Given the description of an element on the screen output the (x, y) to click on. 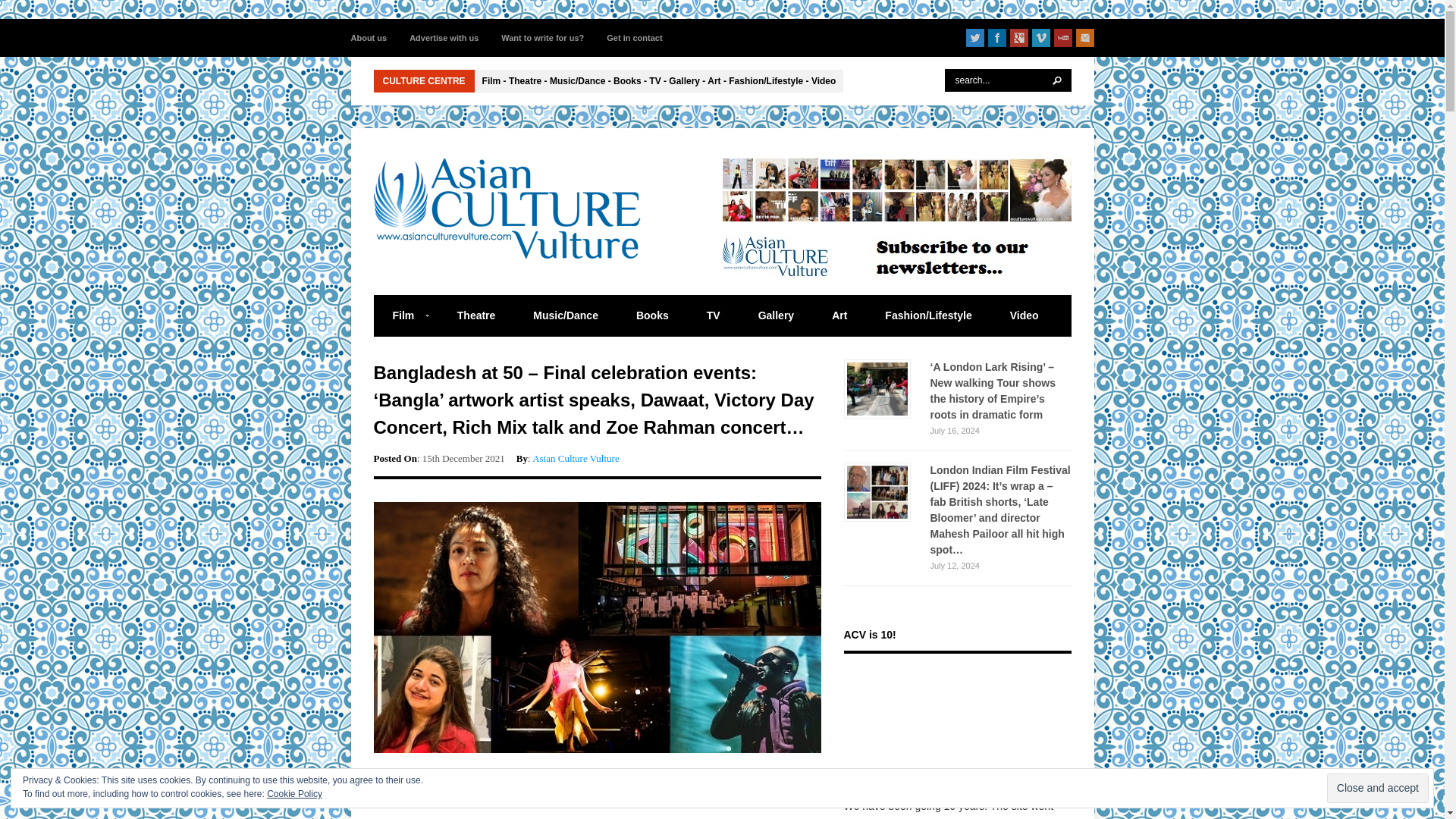
google (1018, 37)
Get in contact (634, 37)
Art (839, 315)
search... (1007, 79)
Theatre (476, 315)
the Victory Day Concert has been cancelled because of covid. (587, 793)
Books (652, 315)
vimeo (1039, 37)
About us (368, 37)
mail (1084, 37)
Gallery (775, 315)
Asian Culture Vulture (576, 458)
youtube (1062, 37)
Video (1024, 315)
TV (713, 315)
